Given the description of an element on the screen output the (x, y) to click on. 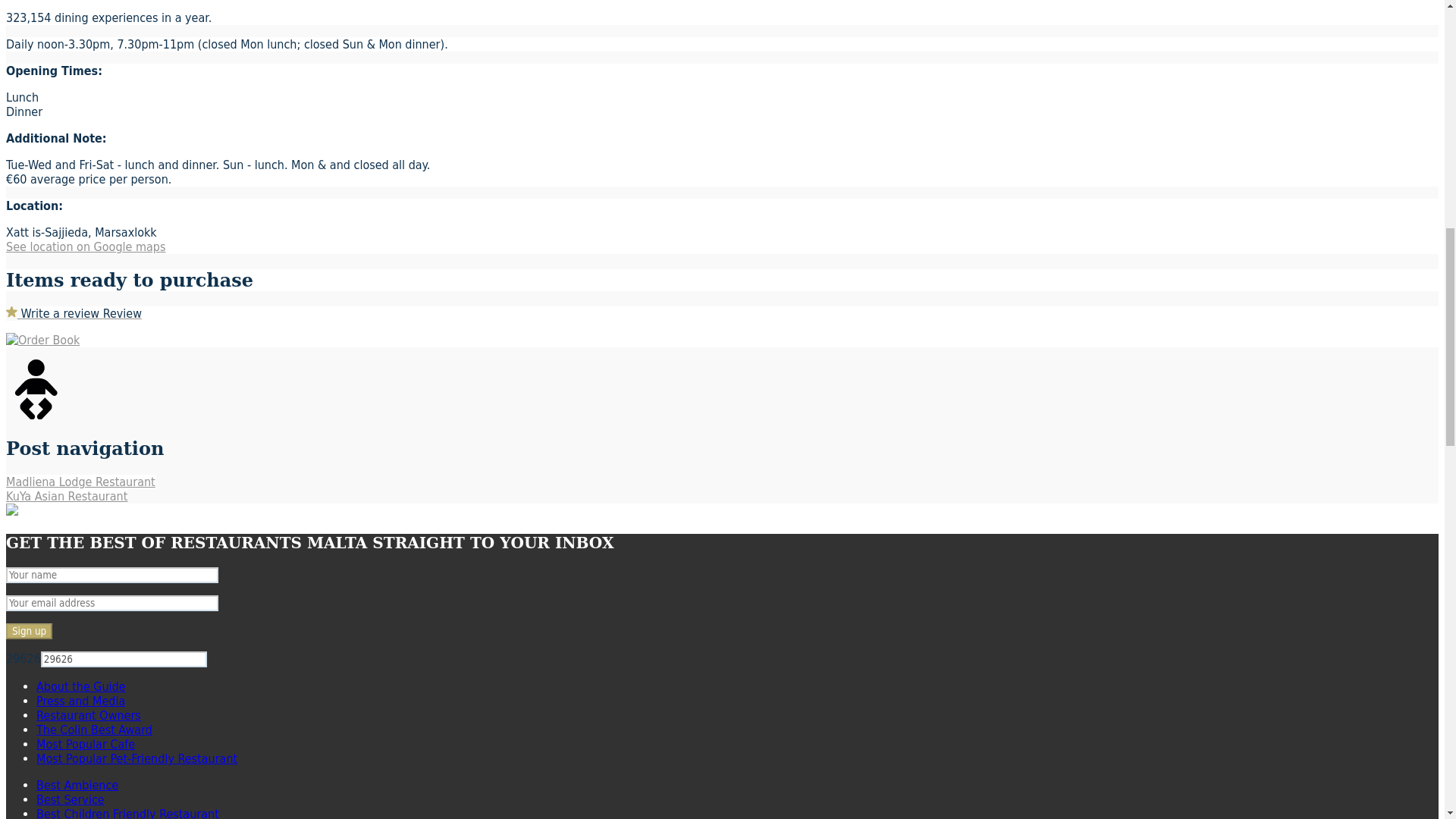
Restaurant Owners (88, 715)
Best Service (70, 799)
Sign up (28, 631)
Most Popular Pet-Friendly Restaurant (136, 758)
Press and Media (80, 700)
See location on Google maps (85, 246)
Sign up (28, 631)
KuYa Asian Restaurant (66, 495)
29626 (123, 659)
The Colin Best Award (94, 729)
